Given the description of an element on the screen output the (x, y) to click on. 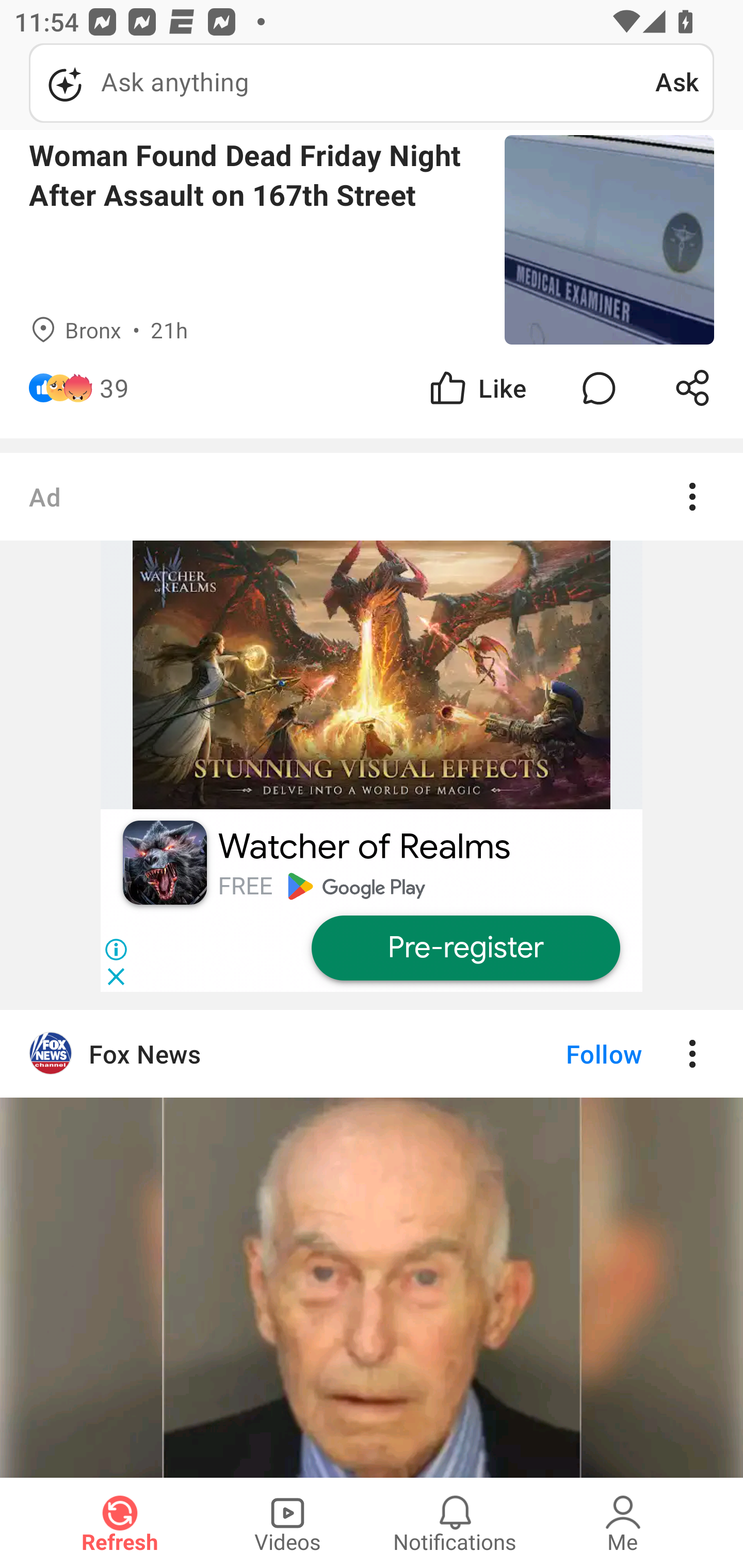
Ask anything (341, 82)
39 (114, 387)
Like (476, 387)
Watcher of Realms (364, 846)
FREE (245, 885)
Pre-register (464, 948)
Fox News Follow (371, 1243)
Fox News Follow (371, 1053)
Follow (569, 1053)
Videos (287, 1522)
Notifications (455, 1522)
Me (622, 1522)
